Given the description of an element on the screen output the (x, y) to click on. 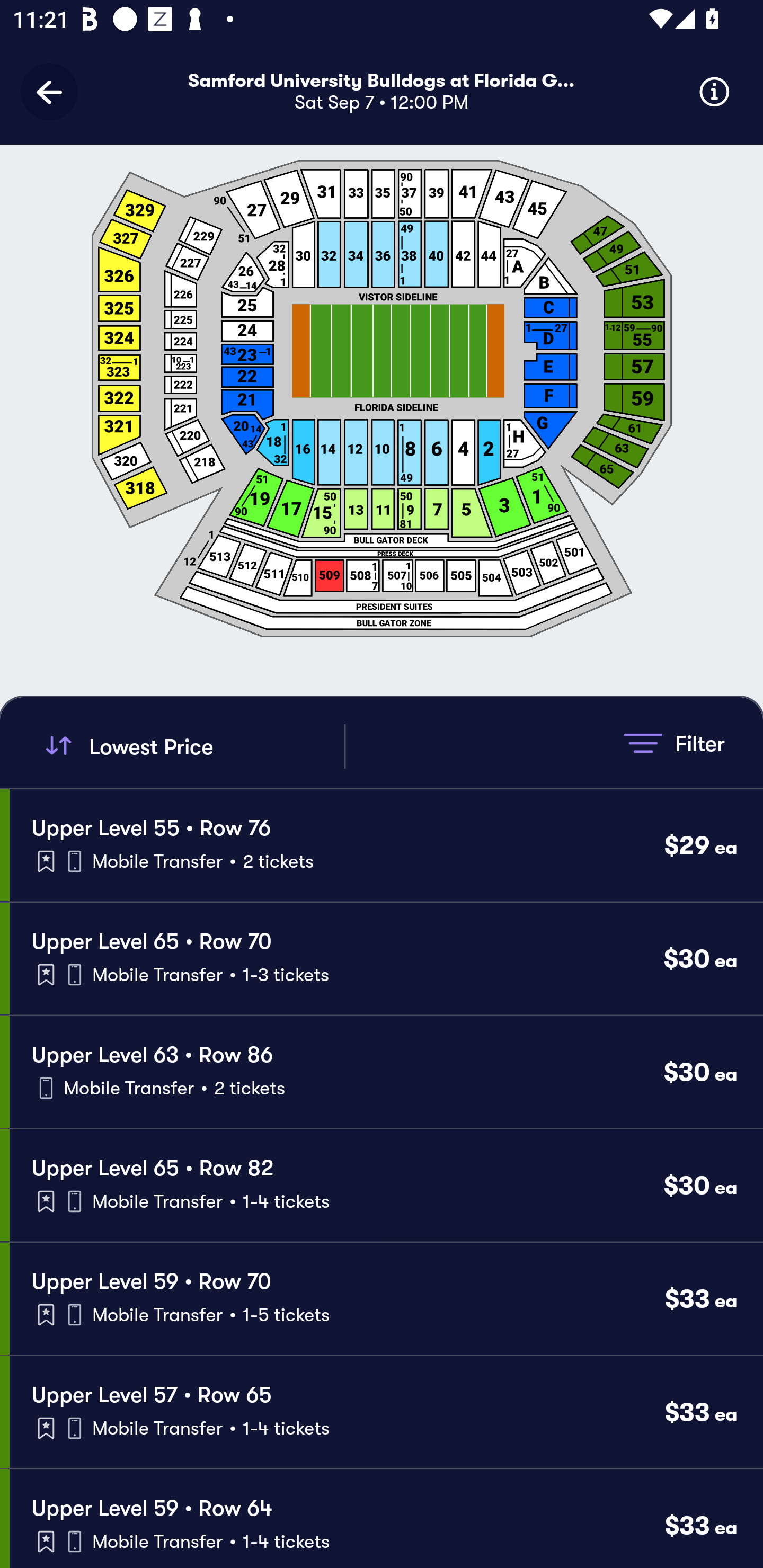
Lowest Price (191, 746)
Filter (674, 743)
